Given the description of an element on the screen output the (x, y) to click on. 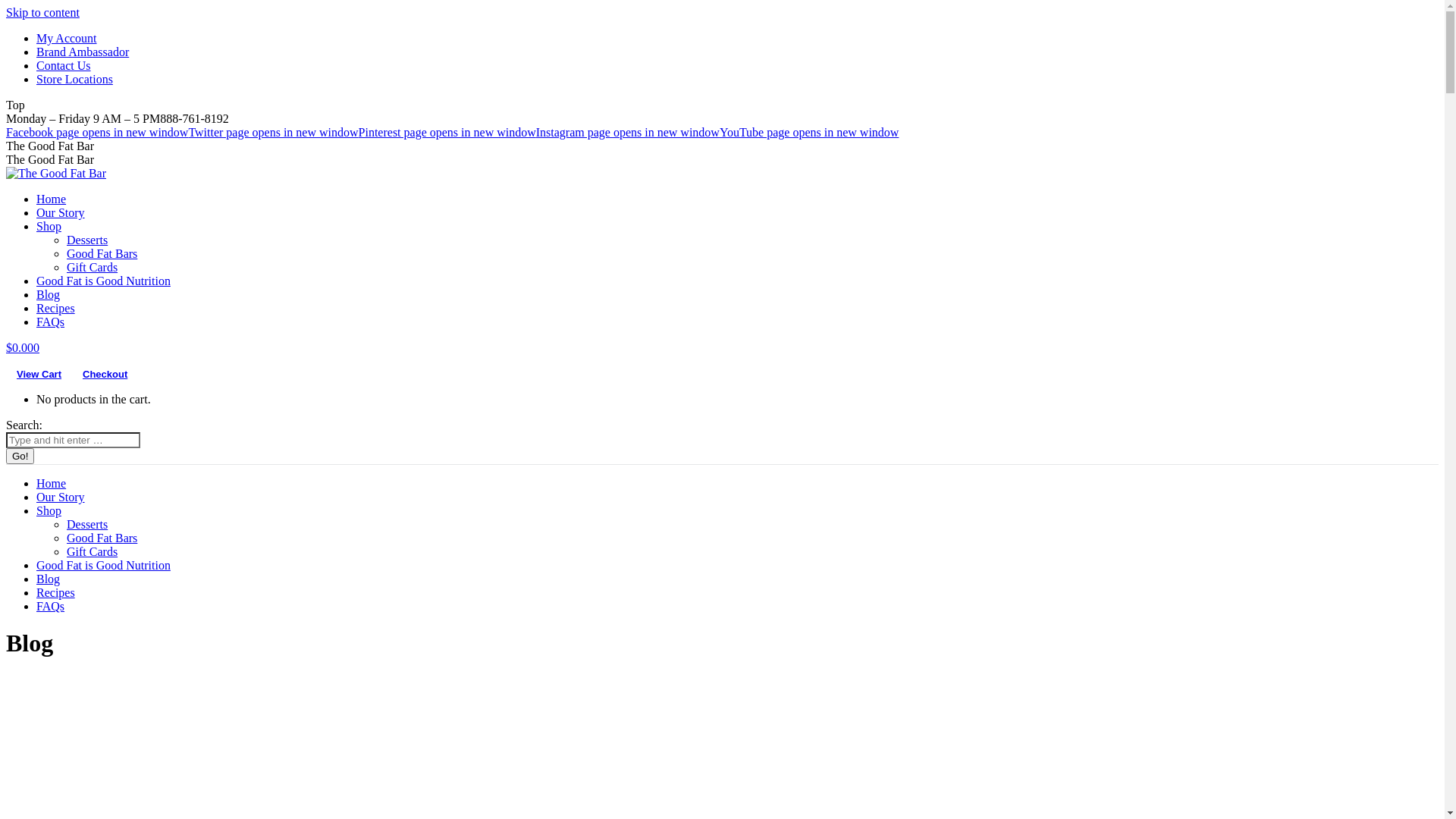
Shop Element type: text (48, 225)
Recipes Element type: text (55, 592)
Gift Cards Element type: text (91, 266)
YouTube page opens in new window Element type: text (808, 131)
Go! Element type: text (20, 456)
Good Fat Bars Element type: text (101, 537)
Home Element type: text (50, 482)
Good Fat is Good Nutrition Element type: text (103, 564)
View Cart Element type: text (39, 373)
FAQs Element type: text (50, 605)
$0.000 Element type: text (22, 347)
FAQs Element type: text (50, 321)
Desserts Element type: text (86, 523)
Search form Element type: hover (73, 440)
Checkout Element type: text (105, 373)
Desserts Element type: text (86, 239)
Shop Element type: text (48, 510)
Brand Ambassador Element type: text (82, 51)
My Account Element type: text (66, 37)
Home Element type: text (50, 198)
Blog Element type: text (47, 578)
Pinterest page opens in new window Element type: text (447, 131)
Twitter page opens in new window Element type: text (272, 131)
Store Locations Element type: text (74, 78)
Skip to content Element type: text (42, 12)
Recipes Element type: text (55, 307)
Good Fat is Good Nutrition Element type: text (103, 280)
Our Story Element type: text (60, 212)
Contact Us Element type: text (63, 65)
Facebook page opens in new window Element type: text (97, 131)
Instagram page opens in new window Element type: text (627, 131)
Blog Element type: text (47, 294)
Gift Cards Element type: text (91, 551)
Our Story Element type: text (60, 496)
Good Fat Bars Element type: text (101, 253)
